Given the description of an element on the screen output the (x, y) to click on. 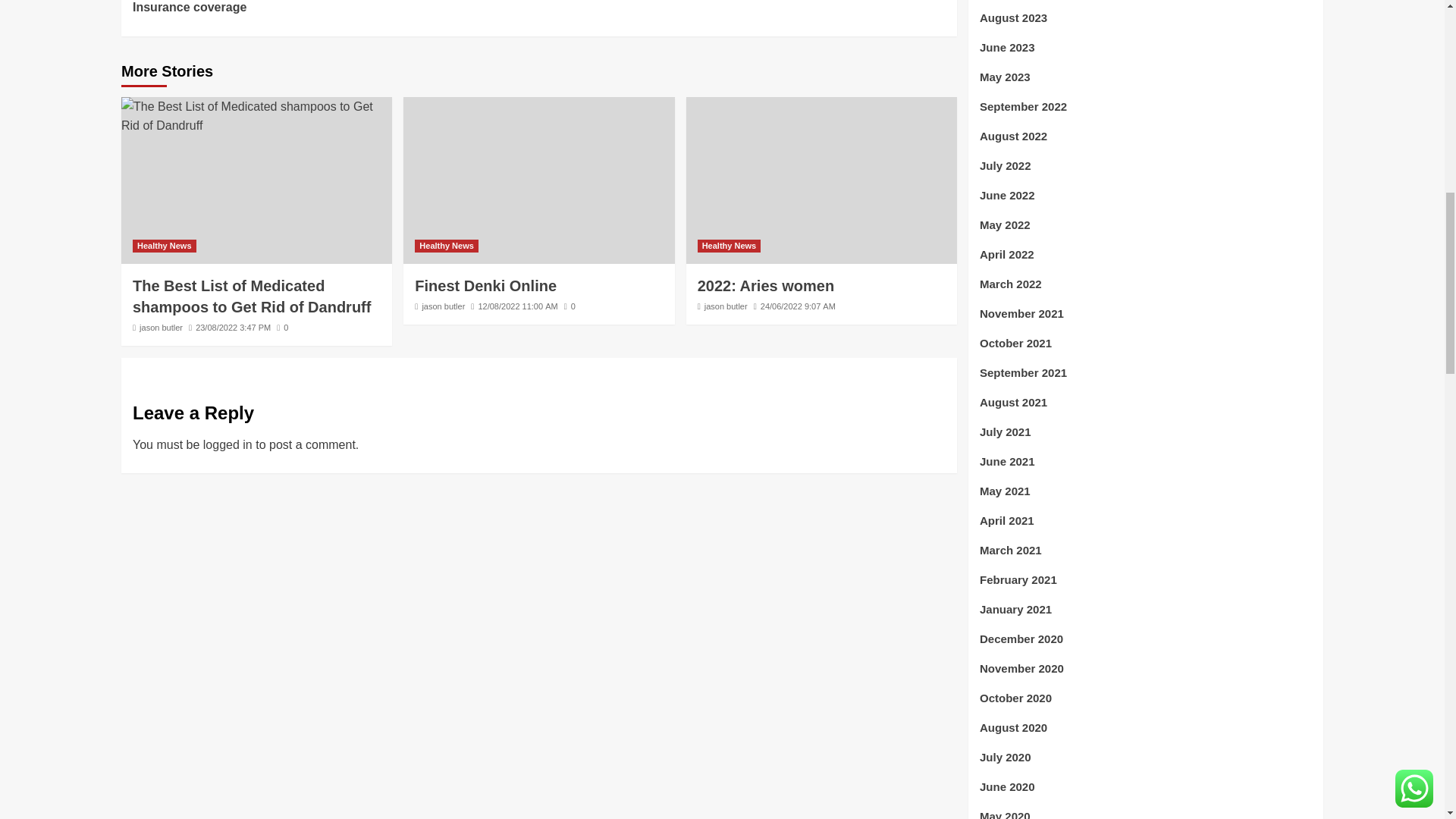
The Best List of Medicated shampoos to Get Rid of Dandruff (251, 296)
Healthy News (164, 245)
jason butler (161, 327)
